Given the description of an element on the screen output the (x, y) to click on. 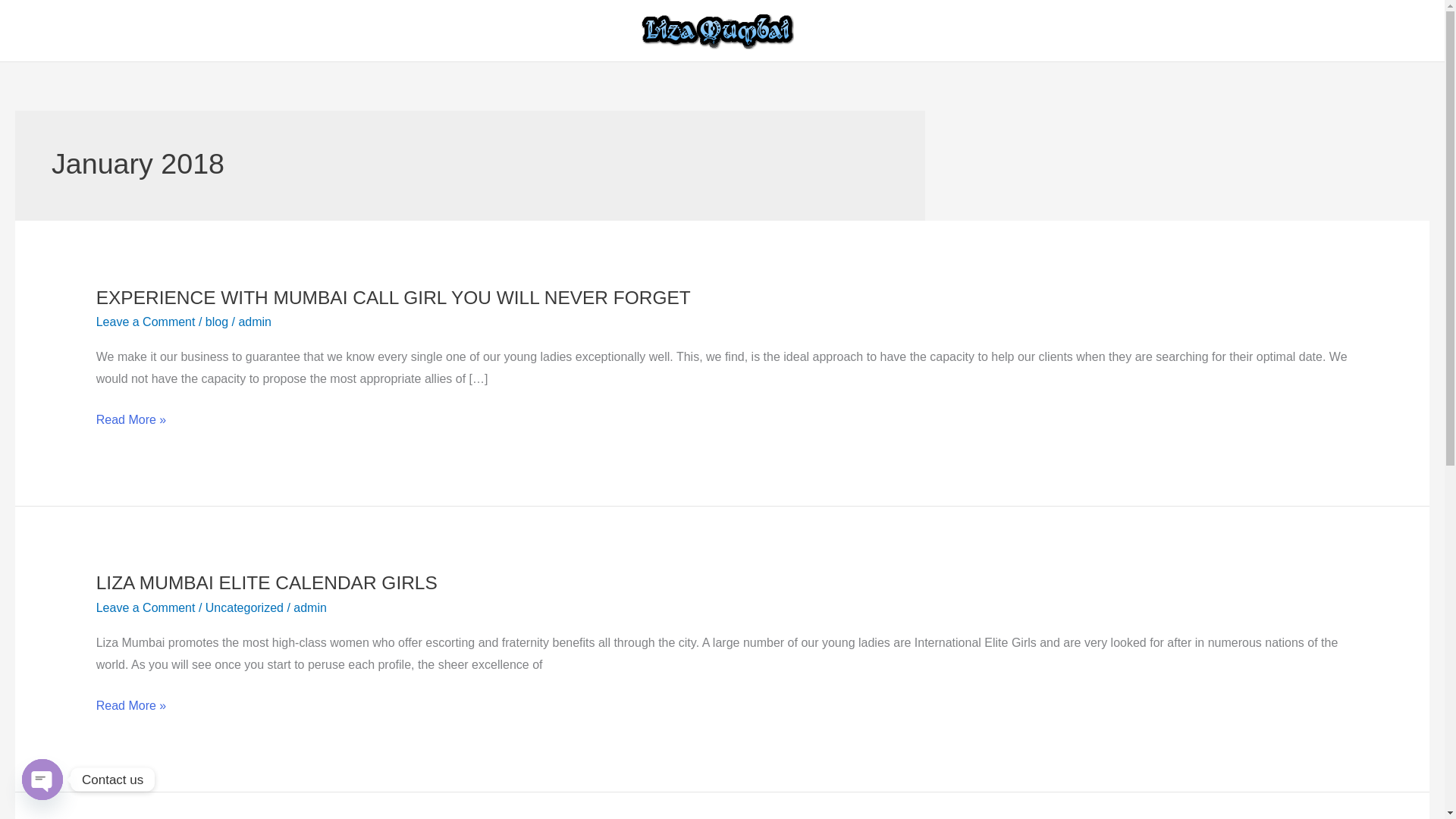
View all posts by admin (310, 607)
View all posts by admin (254, 321)
EXPERIENCE WITH MUMBAI CALL GIRL YOU WILL NEVER FORGET (393, 297)
Leave a Comment (145, 321)
